Given the description of an element on the screen output the (x, y) to click on. 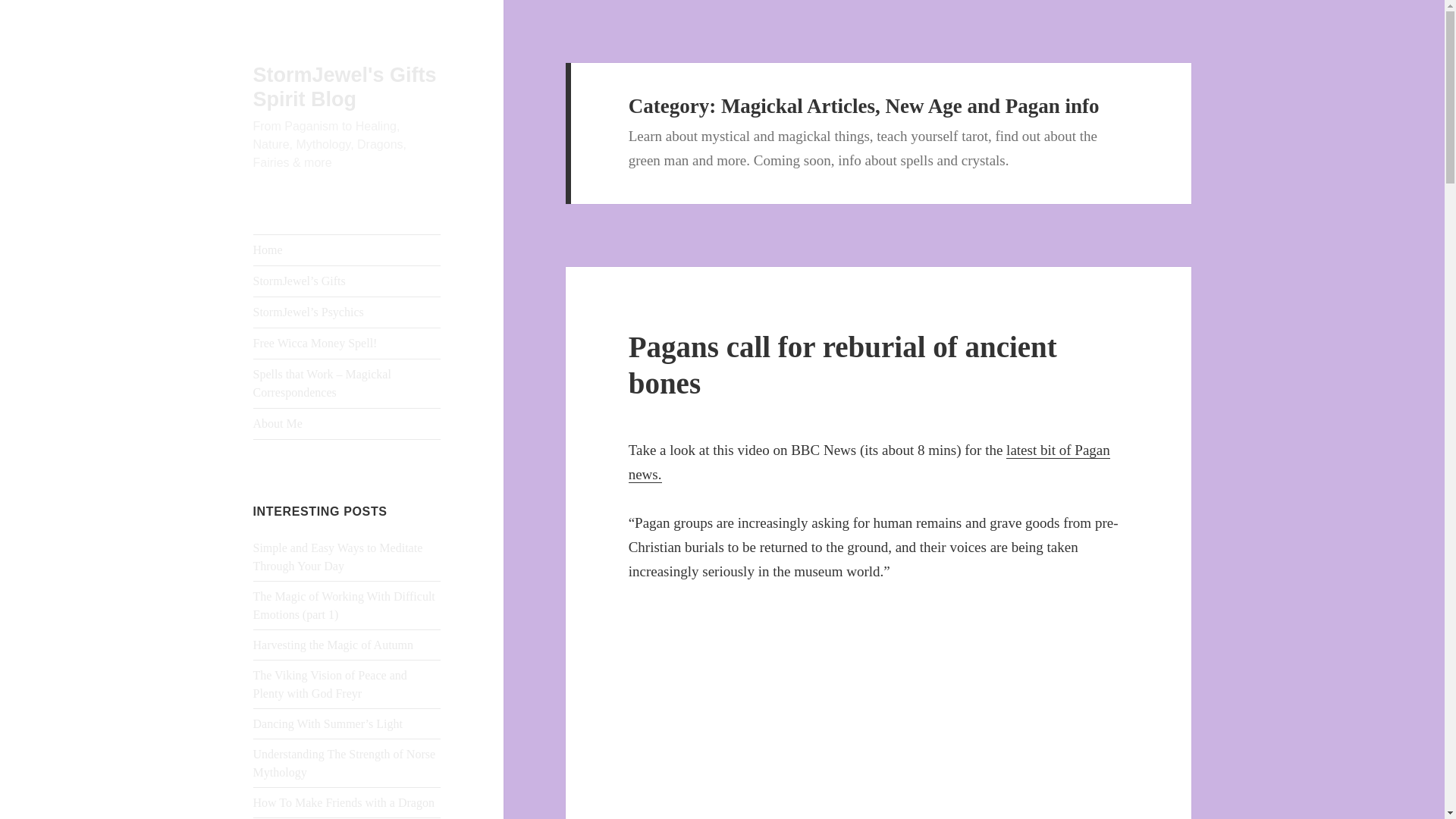
Free Wicca Money Spell! (347, 343)
Simple and Easy Ways to Meditate Through Your Day (338, 556)
latest bit of Pagan news. (868, 462)
StormJewel's Gifts Spirit Blog (344, 86)
Harvesting the Magic of Autumn (333, 644)
Pagans call for reburial of ancient bones (842, 364)
About Me (347, 423)
The Viking Vision of Peace and Plenty with God Freyr (330, 684)
Home (347, 250)
Pagan News about reburial of ancient bones (868, 462)
How To Make Friends with a Dragon (343, 802)
Understanding The Strength of Norse Mythology (344, 762)
